Given the description of an element on the screen output the (x, y) to click on. 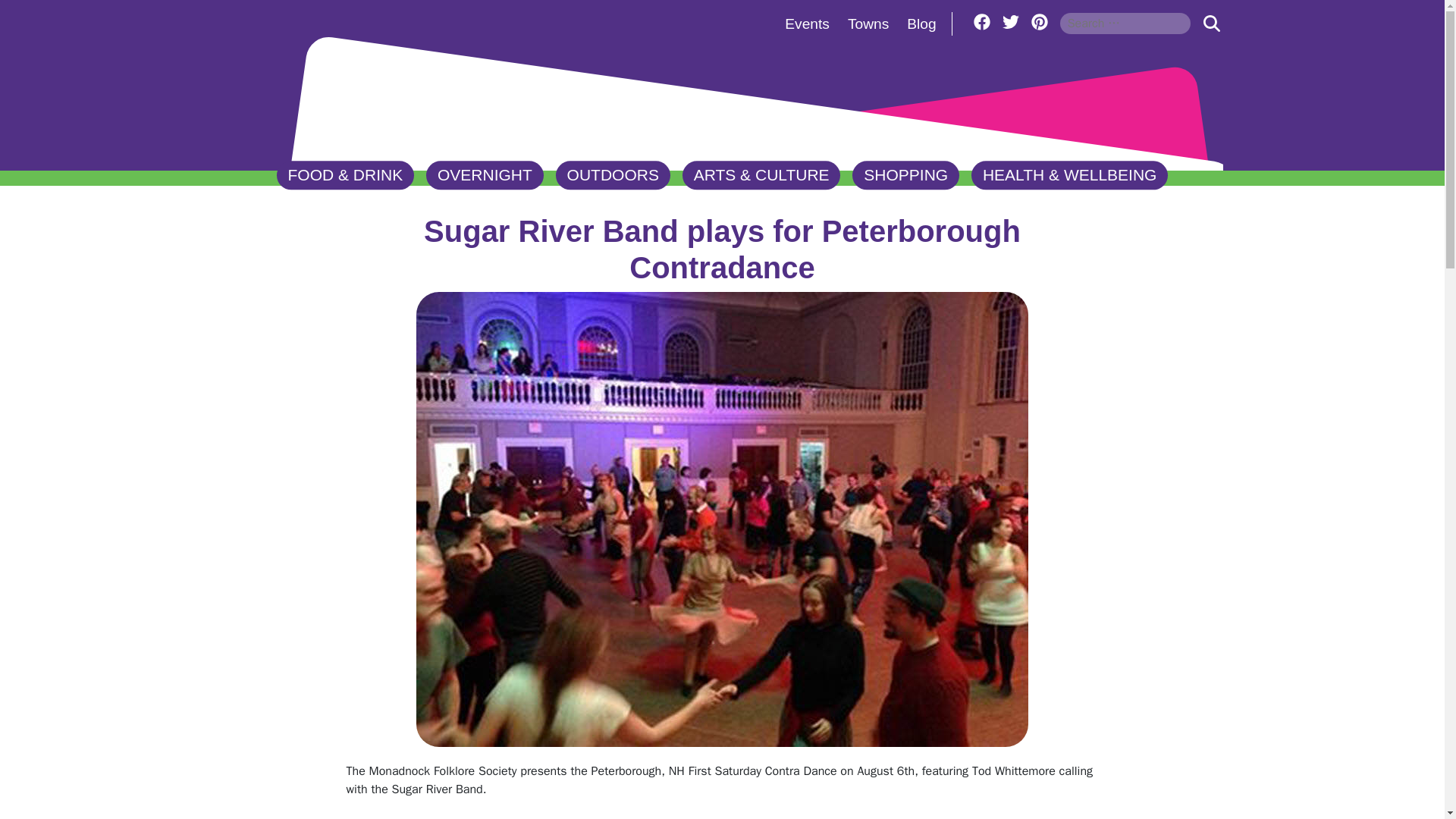
SEARCH (1211, 23)
Discover Monadnock Twitter Page (1011, 20)
Discover Monadnock Facebook Page (982, 20)
Discover Monadnock Pinterest Page (1039, 20)
OVERNIGHT (485, 174)
SHOPPING (905, 174)
Search for: (1125, 23)
Blog (921, 23)
Towns (867, 23)
Events (806, 23)
OUTDOORS (613, 174)
